Given the description of an element on the screen output the (x, y) to click on. 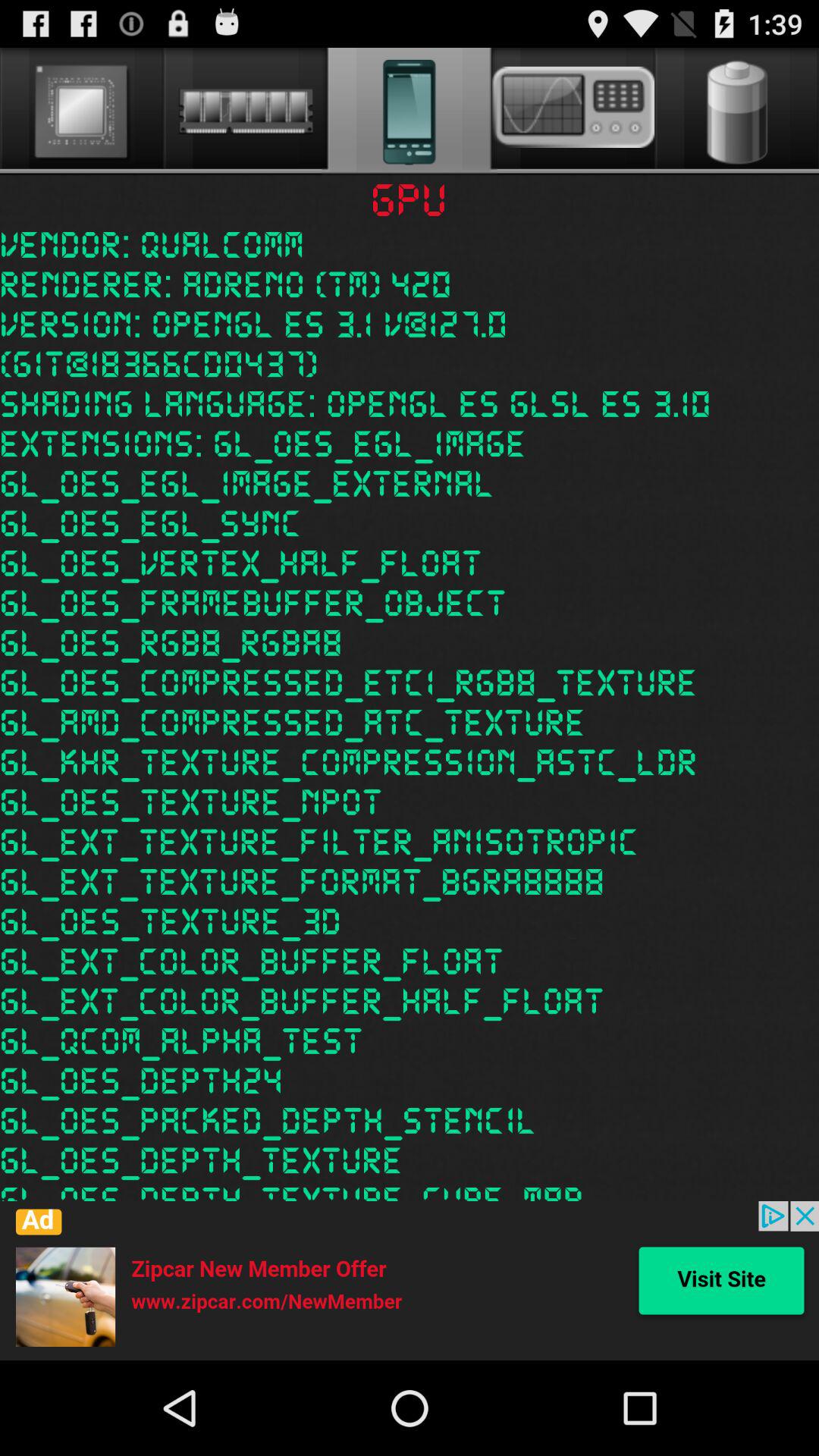
advertisement (409, 1280)
